Given the description of an element on the screen output the (x, y) to click on. 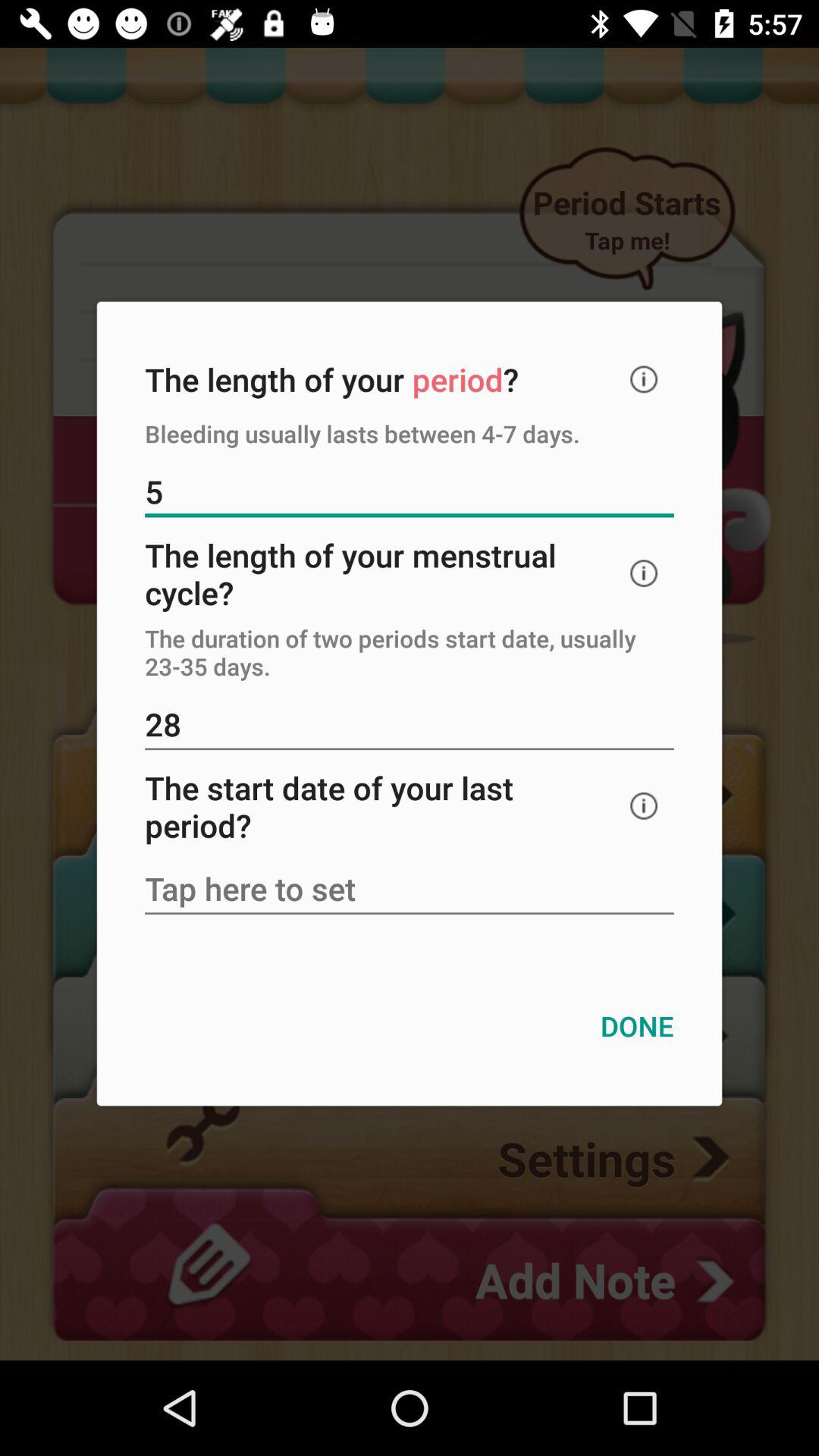
toggle info help (643, 573)
